Given the description of an element on the screen output the (x, y) to click on. 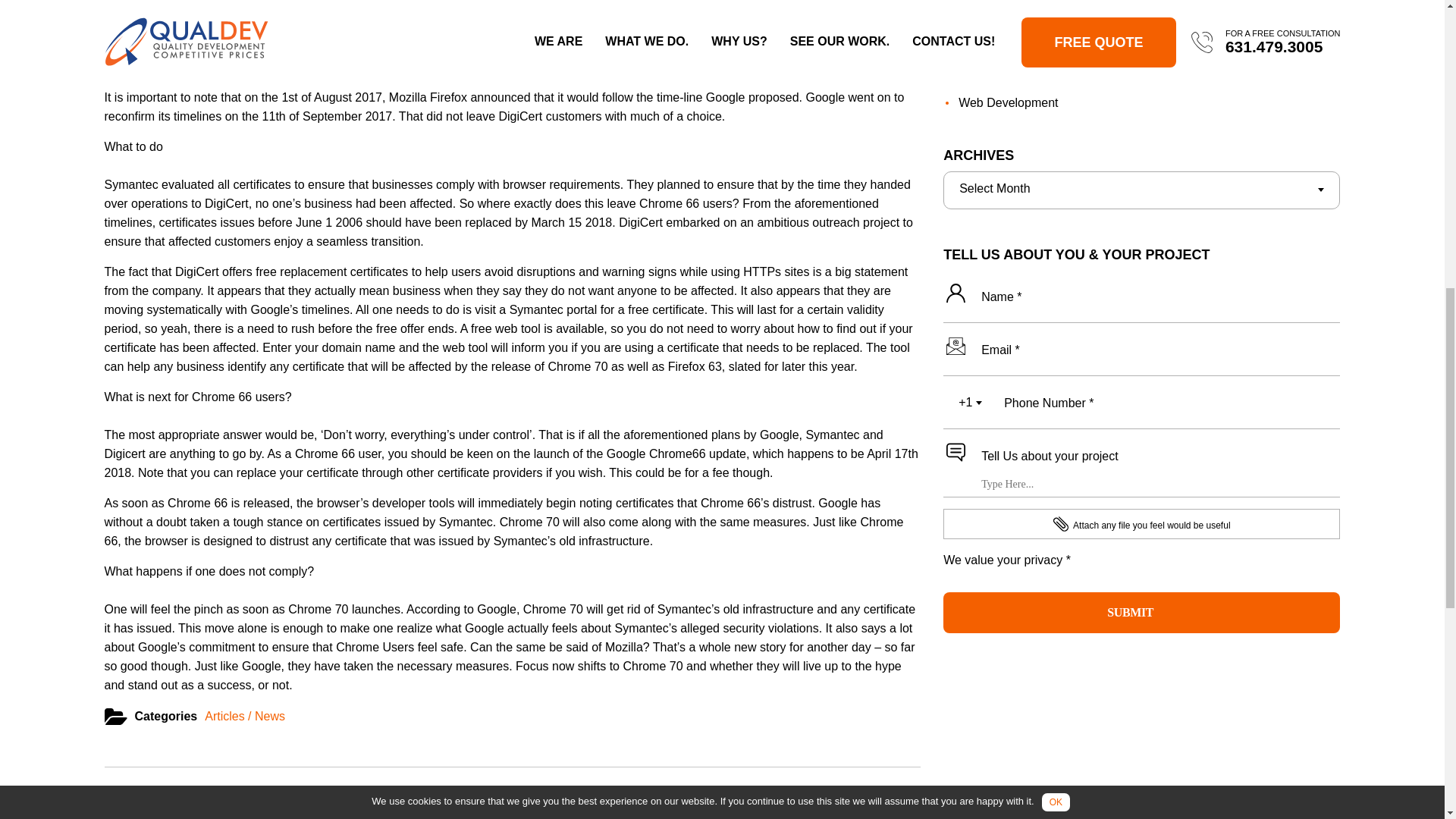
submit (1141, 612)
